Given the description of an element on the screen output the (x, y) to click on. 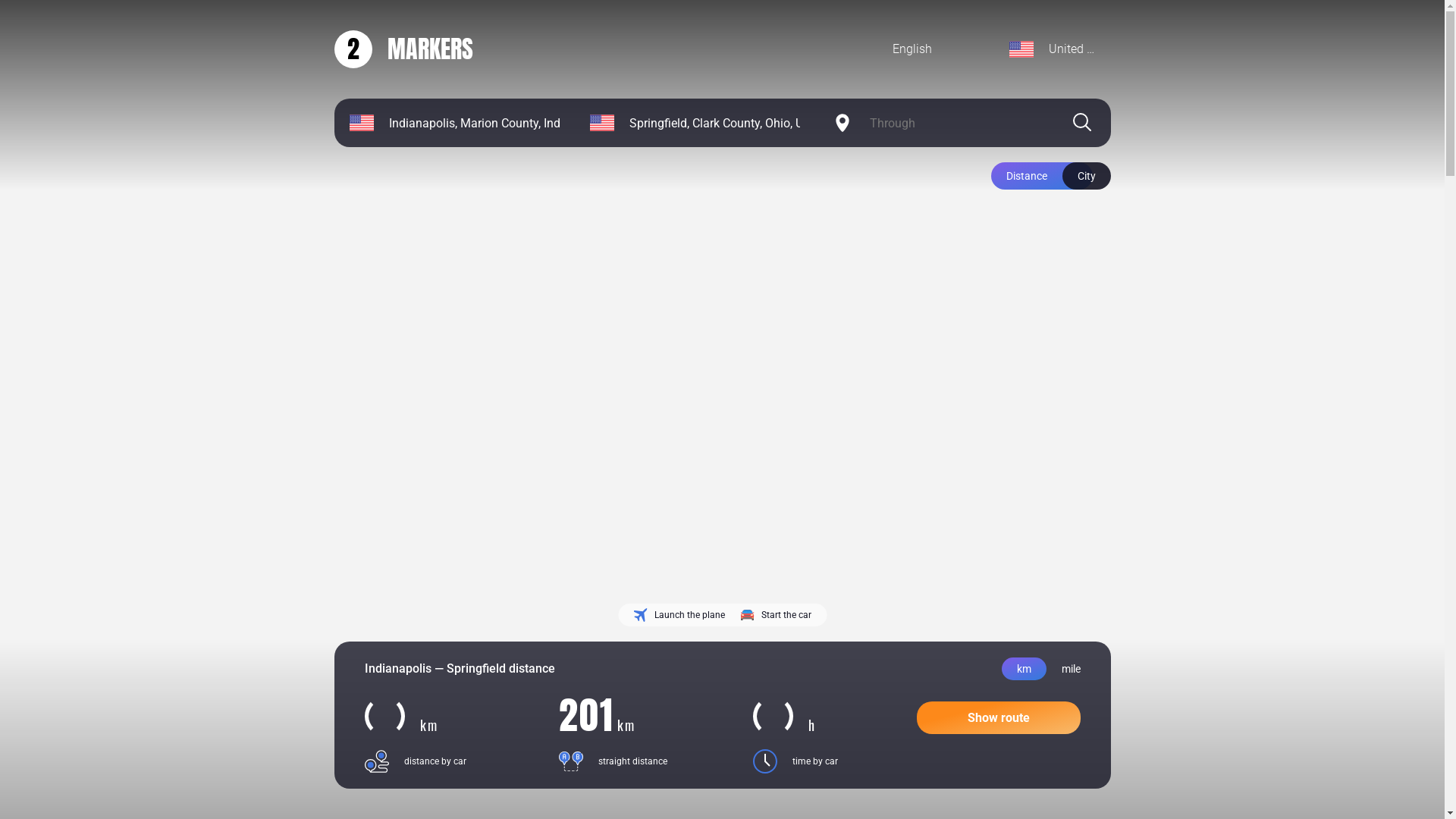
English Element type: text (935, 49)
2MARKERS Element type: text (402, 48)
Distance Element type: text (1041, 175)
km Element type: text (1023, 668)
Launch the plane Element type: text (678, 614)
United States Element type: text (1052, 49)
Advertisement Element type: hover (462, 485)
City Element type: text (1085, 175)
Start the car Element type: text (775, 614)
Show route Element type: text (997, 717)
mile Element type: text (1070, 668)
